Given the description of an element on the screen output the (x, y) to click on. 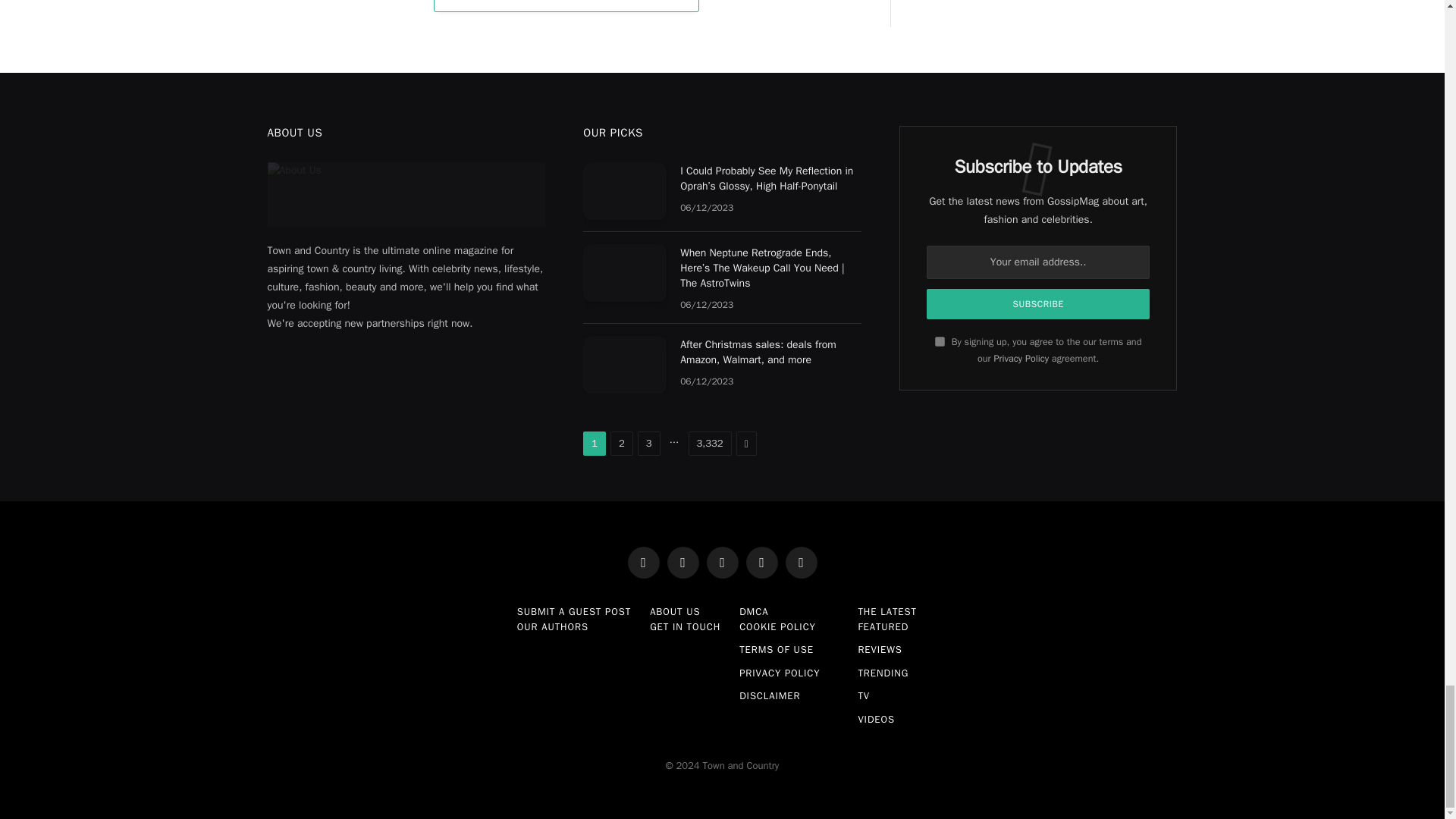
Subscribe (1037, 304)
on (939, 341)
